Given the description of an element on the screen output the (x, y) to click on. 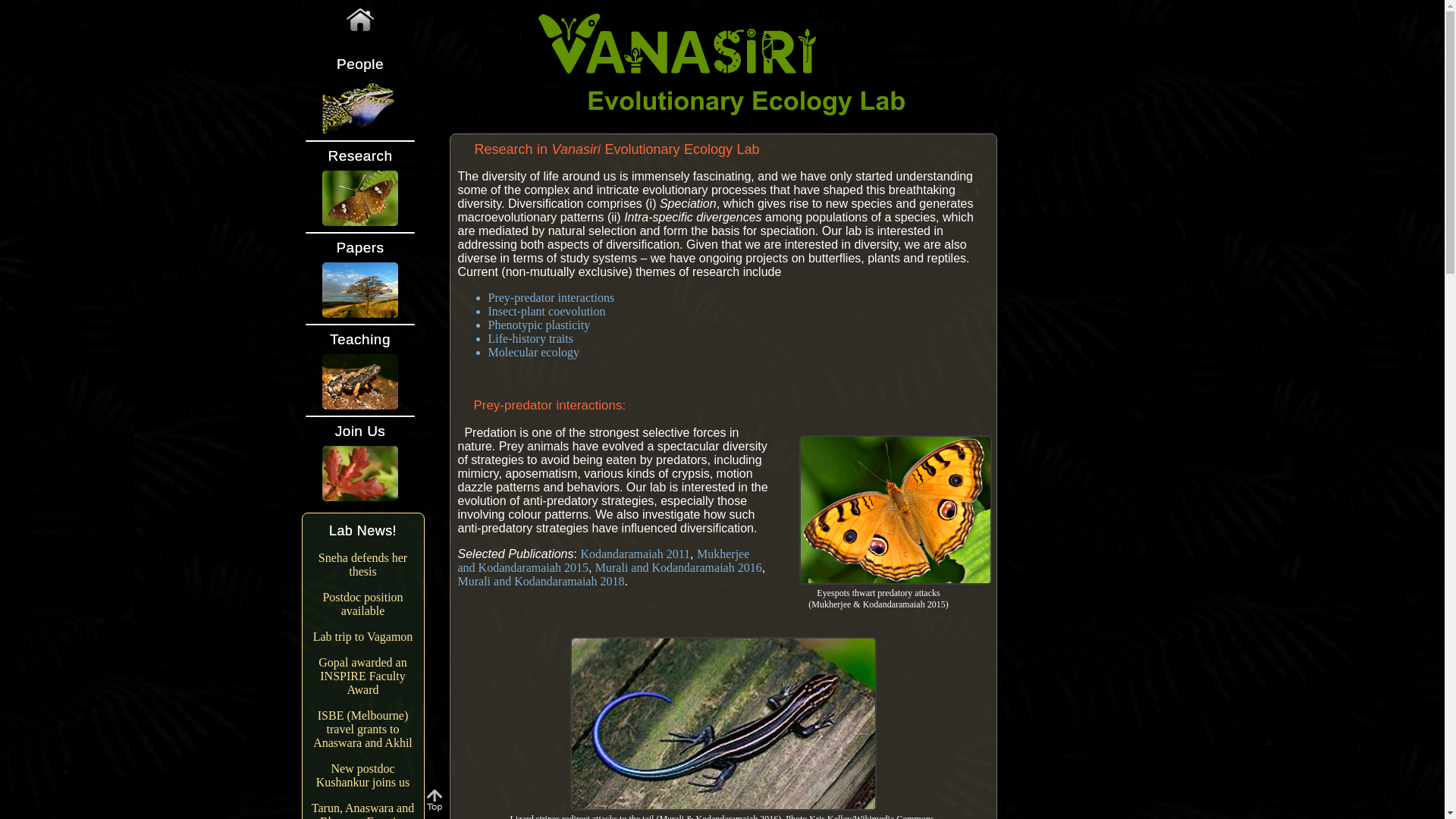
Mukherjee and Kodandaramaiah 2015 (603, 560)
Research (359, 156)
Life-history traits (530, 338)
Teaching (359, 339)
Murali and Kodandaramaiah 2018 (541, 581)
Join Us (359, 431)
Papers (359, 247)
Kodandaramaiah 2011 (634, 553)
Insect-plant coevolution (546, 310)
Phenotypic plasticity (539, 324)
